Given the description of an element on the screen output the (x, y) to click on. 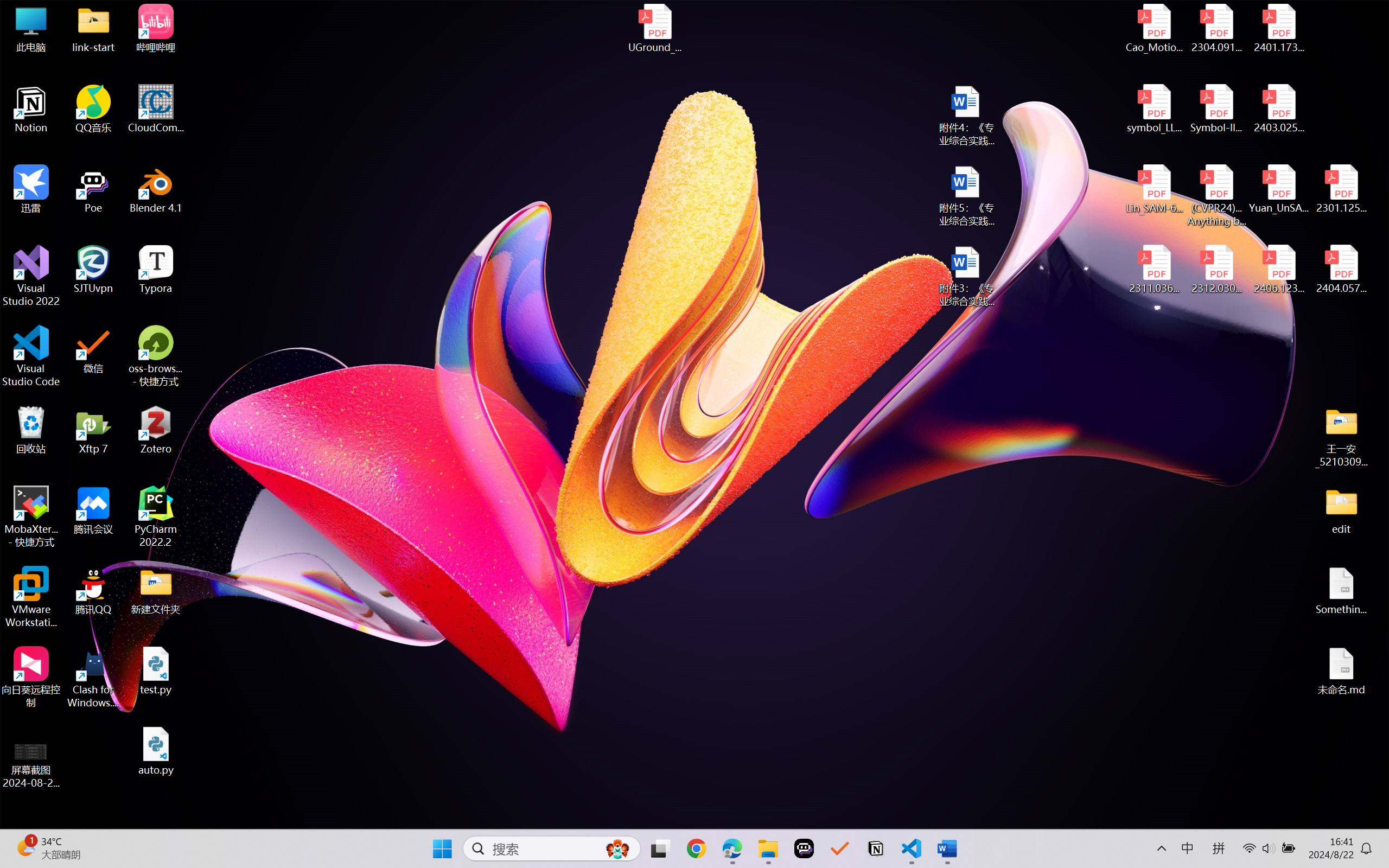
Something.md (1340, 591)
2304.09121v3.pdf (1216, 28)
2404.05719v1.pdf (1340, 269)
Visual Studio 2022 (31, 276)
Google Chrome (696, 848)
